Given the description of an element on the screen output the (x, y) to click on. 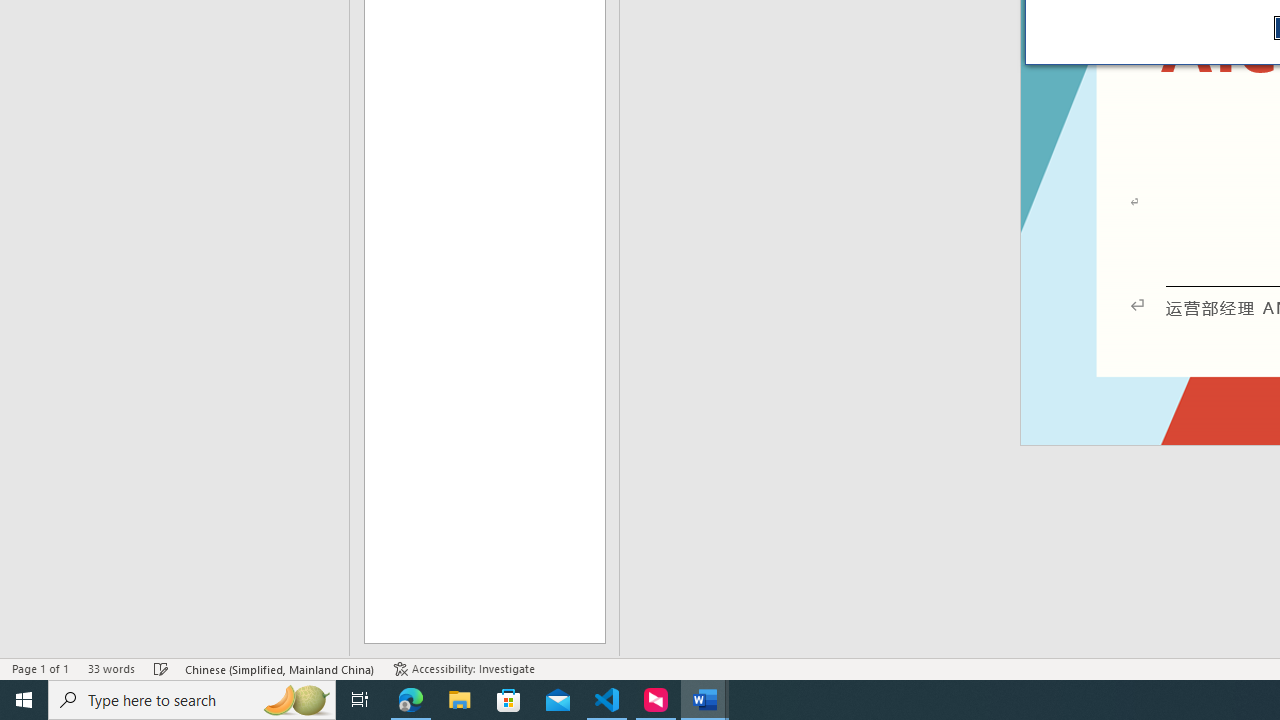
Search highlights icon opens search home window (295, 699)
Task View (359, 699)
Start (24, 699)
Accessibility Checker Accessibility: Investigate (464, 668)
Word - 2 running windows (704, 699)
Type here to search (191, 699)
Visual Studio Code - 1 running window (607, 699)
Spelling and Grammar Check Checking (161, 668)
File Explorer (460, 699)
Page Number Page 1 of 1 (39, 668)
Language Chinese (Simplified, Mainland China) (279, 668)
Microsoft Store (509, 699)
